Given the description of an element on the screen output the (x, y) to click on. 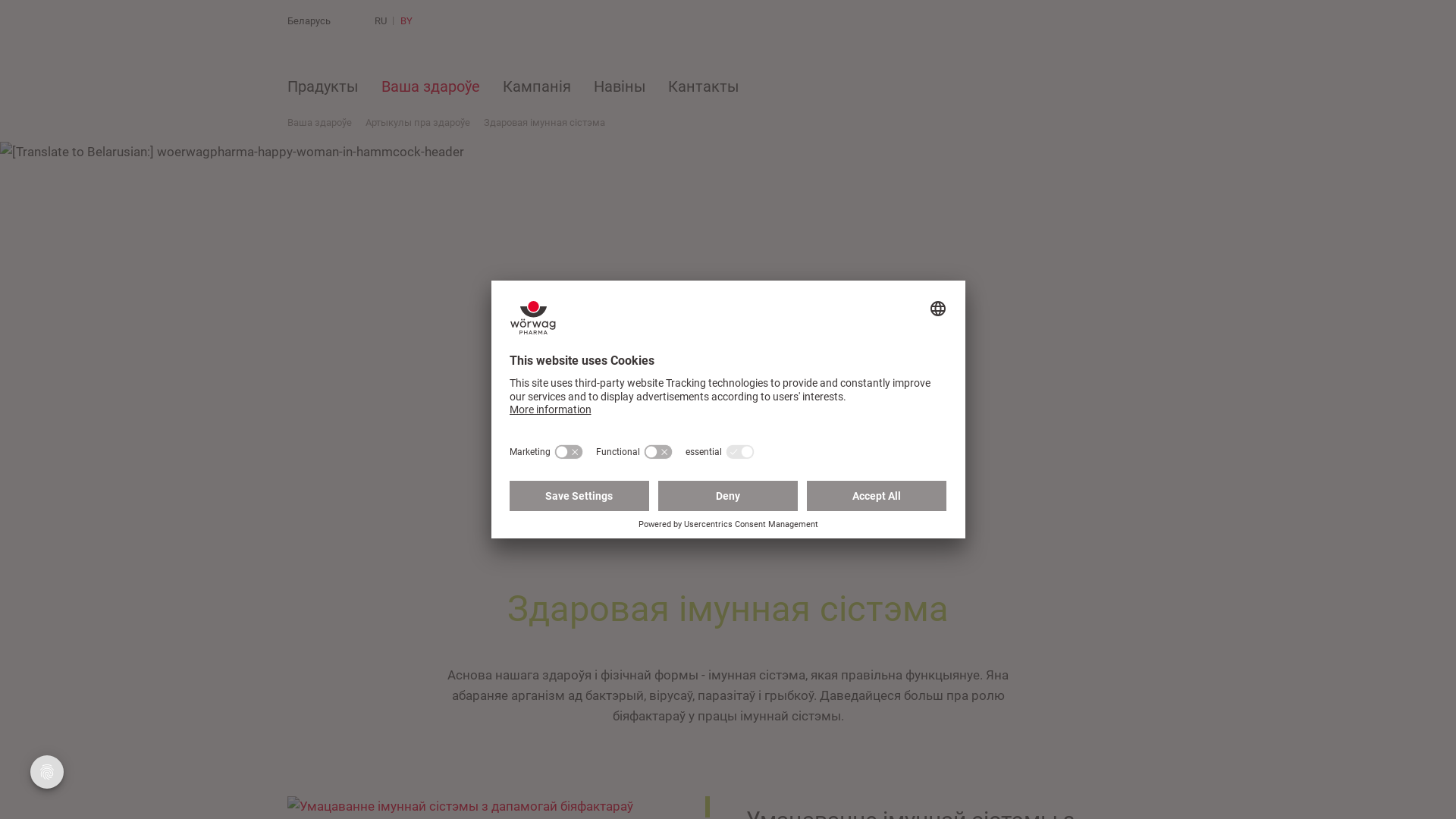
BY Element type: text (406, 20)
RU Element type: text (380, 20)
  Element type: text (448, 20)
Search Element type: hover (448, 20)
